Given the description of an element on the screen output the (x, y) to click on. 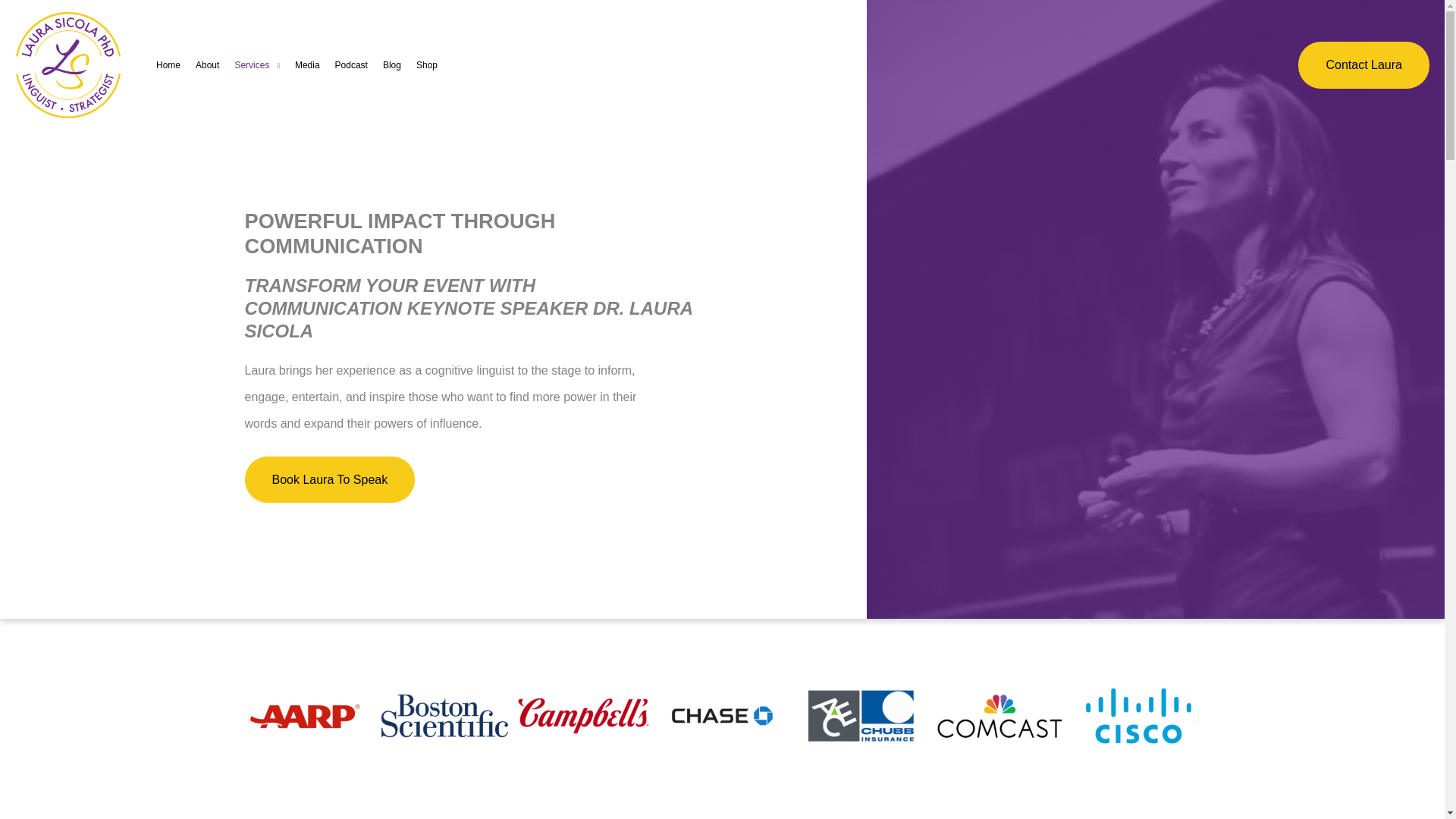
Contact Laura (1363, 64)
Book Laura To Speak (329, 479)
Services (256, 65)
